Given the description of an element on the screen output the (x, y) to click on. 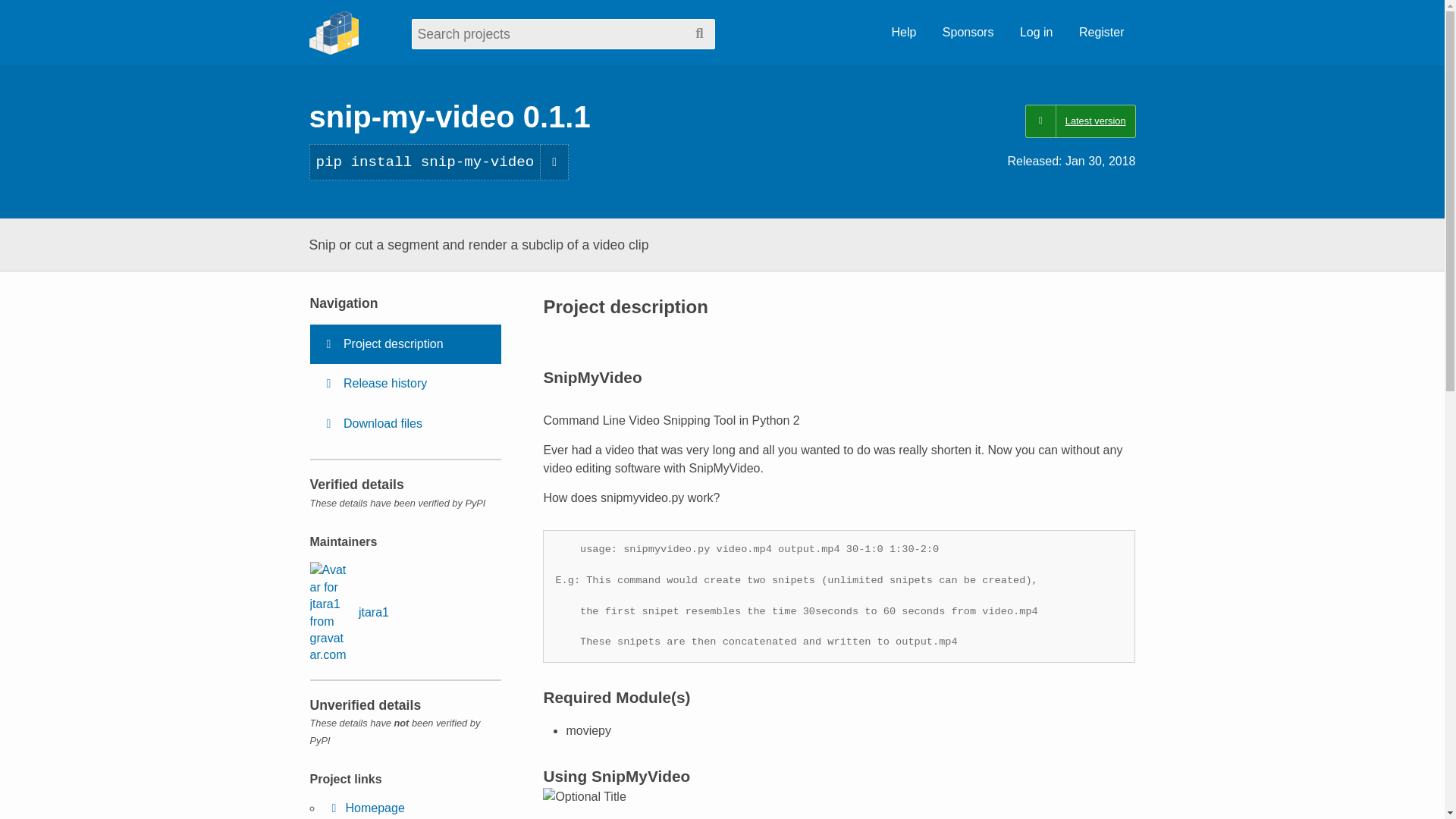
Release history (404, 383)
Latest version (1080, 121)
Register (1101, 32)
Homepage (365, 807)
Search (699, 33)
Download files (404, 423)
Sponsors (968, 32)
Project description (404, 343)
